Given the description of an element on the screen output the (x, y) to click on. 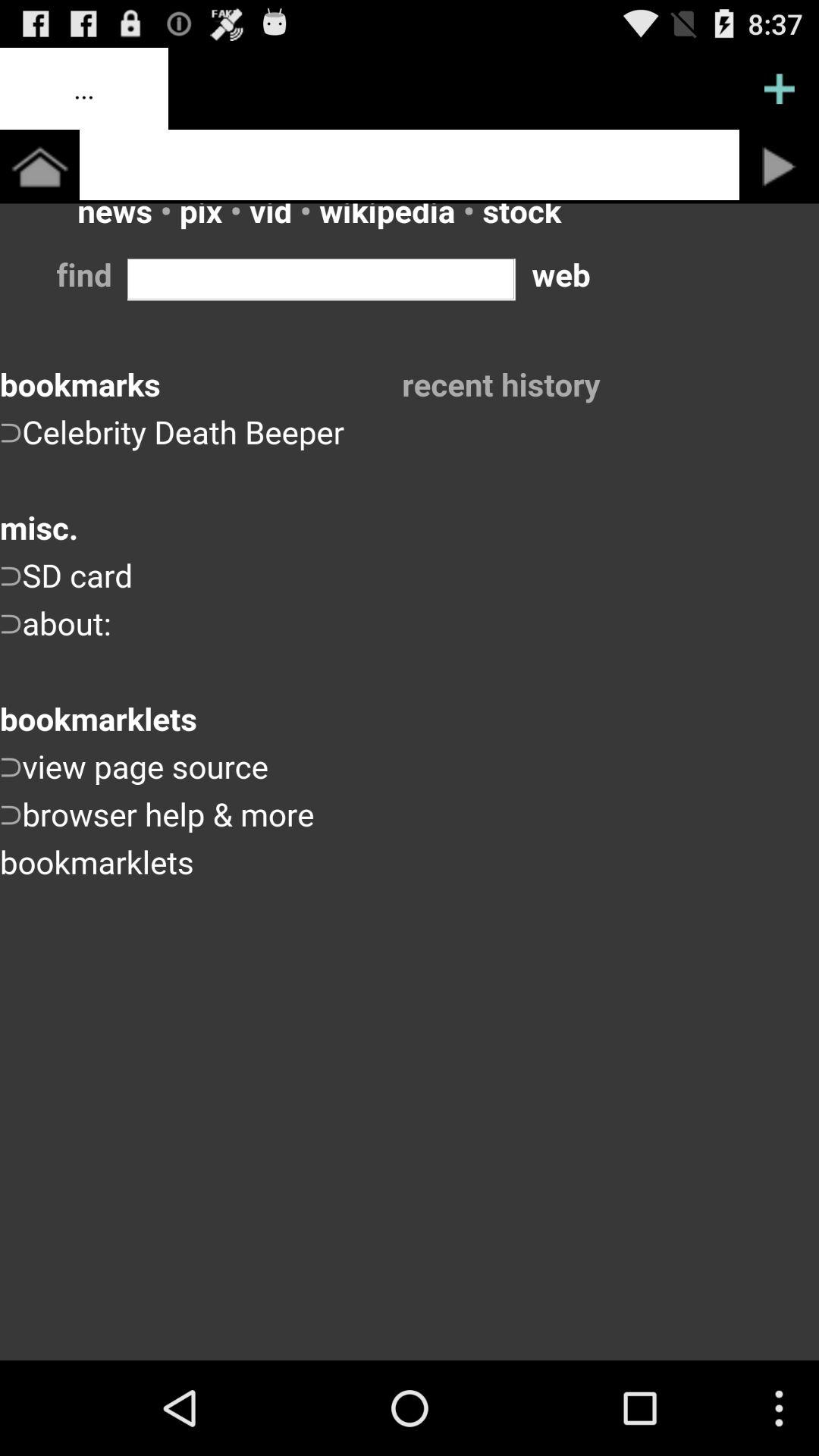
go to home (39, 166)
